Given the description of an element on the screen output the (x, y) to click on. 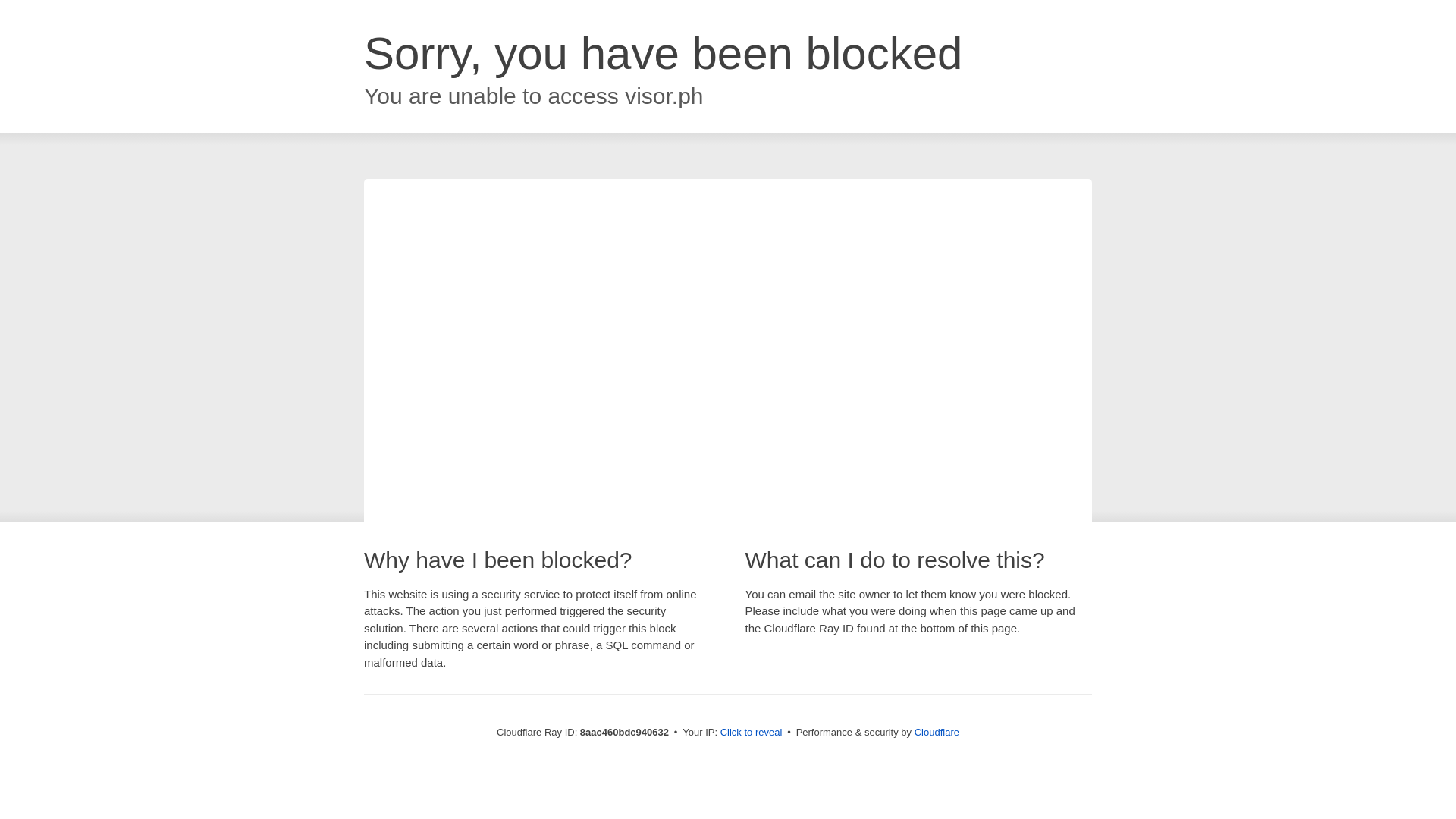
Click to reveal (751, 732)
Cloudflare (936, 731)
